Given the description of an element on the screen output the (x, y) to click on. 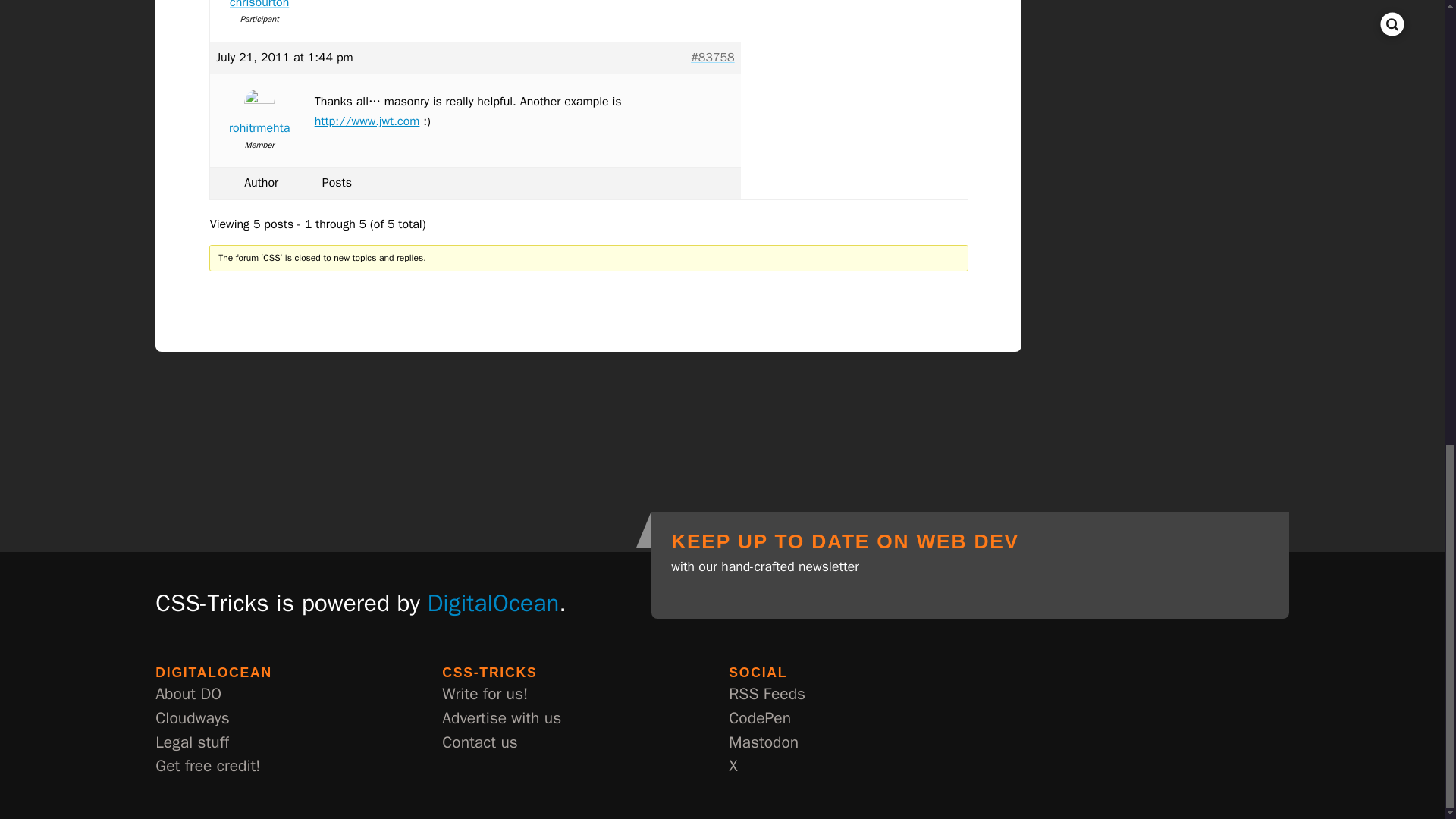
Get free credit! (207, 766)
RSS Feeds (767, 694)
rohitrmehta (258, 115)
Cloudways (191, 718)
Legal stuff (191, 743)
DigitalOcean (492, 603)
Mastodon (763, 743)
CodePen (759, 718)
View chrisburton's profile (258, 6)
View rohitrmehta's profile (258, 115)
